Given the description of an element on the screen output the (x, y) to click on. 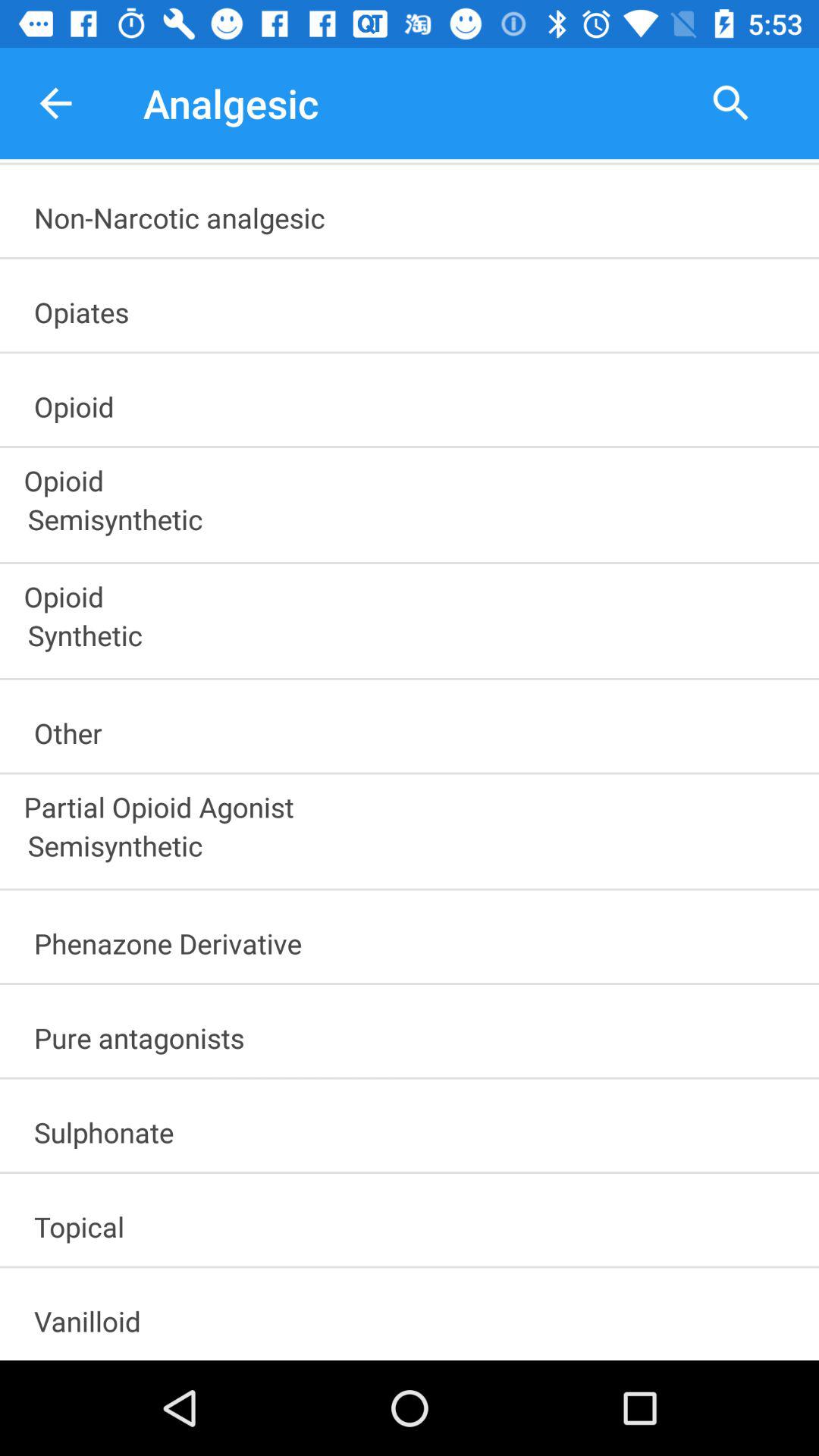
turn on item next to the analgesic icon (55, 103)
